Given the description of an element on the screen output the (x, y) to click on. 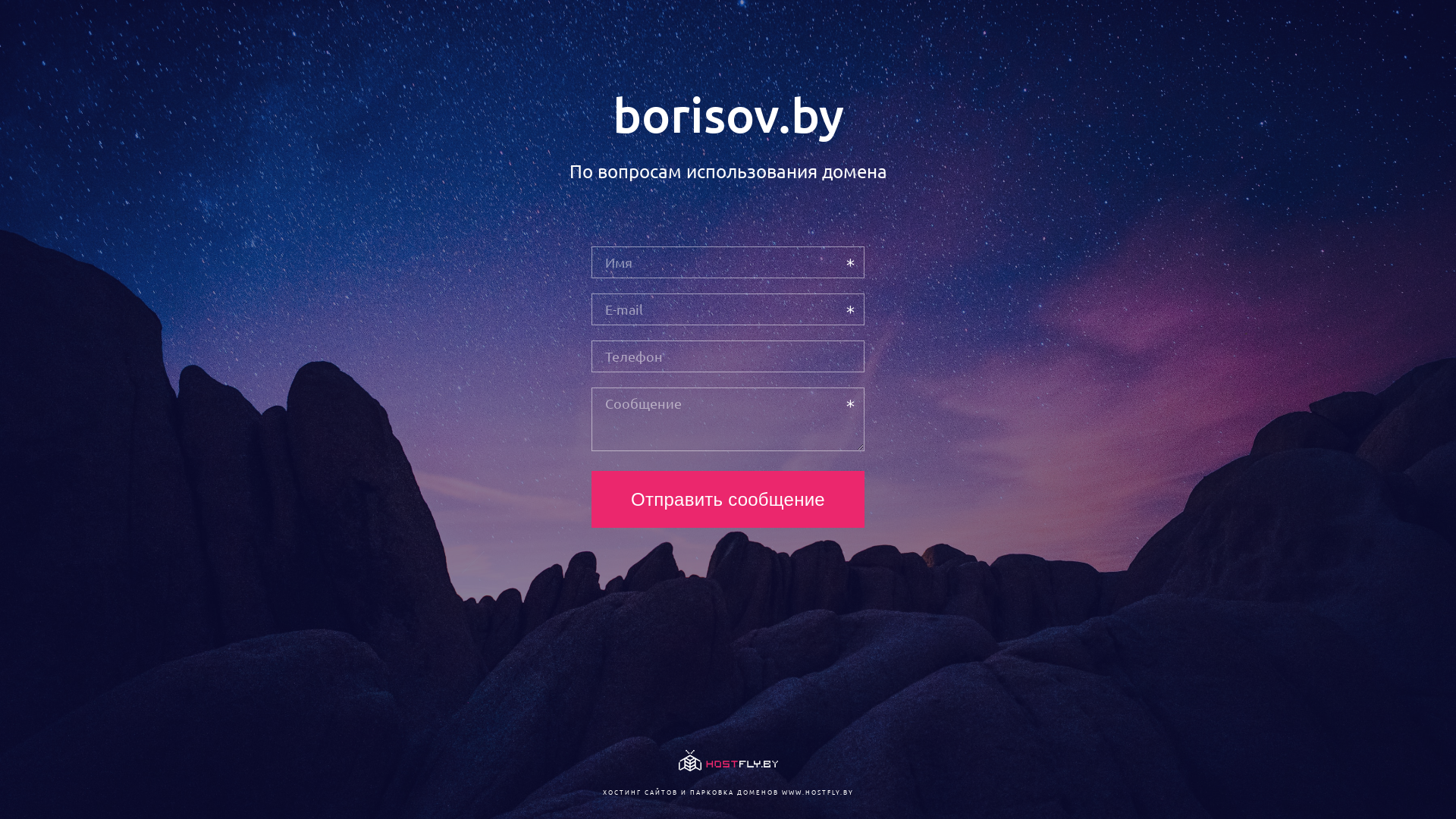
WWW.HOSTFLY.BY Element type: text (817, 791)
